Given the description of an element on the screen output the (x, y) to click on. 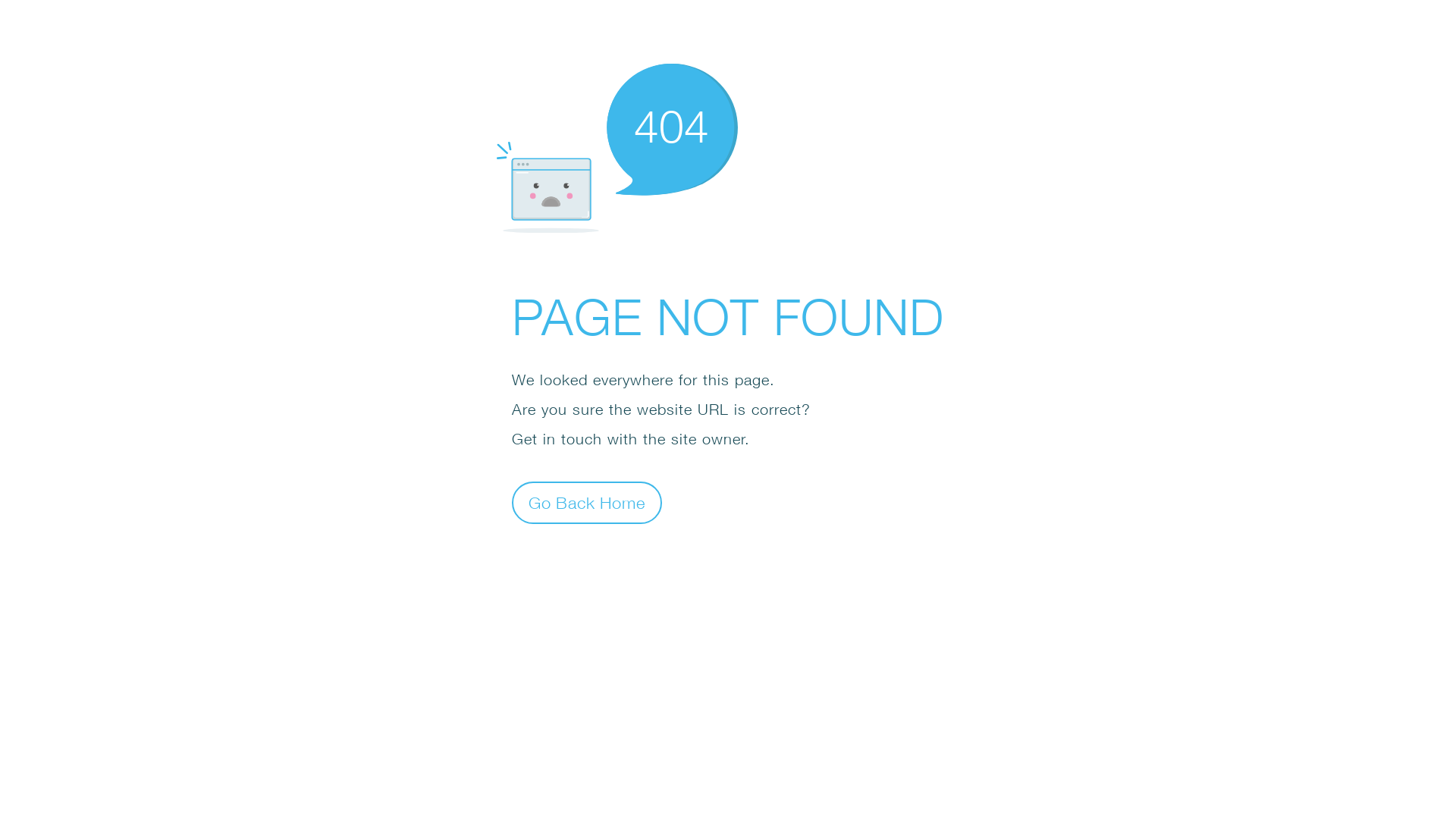
Go Back Home Element type: text (586, 502)
